Given the description of an element on the screen output the (x, y) to click on. 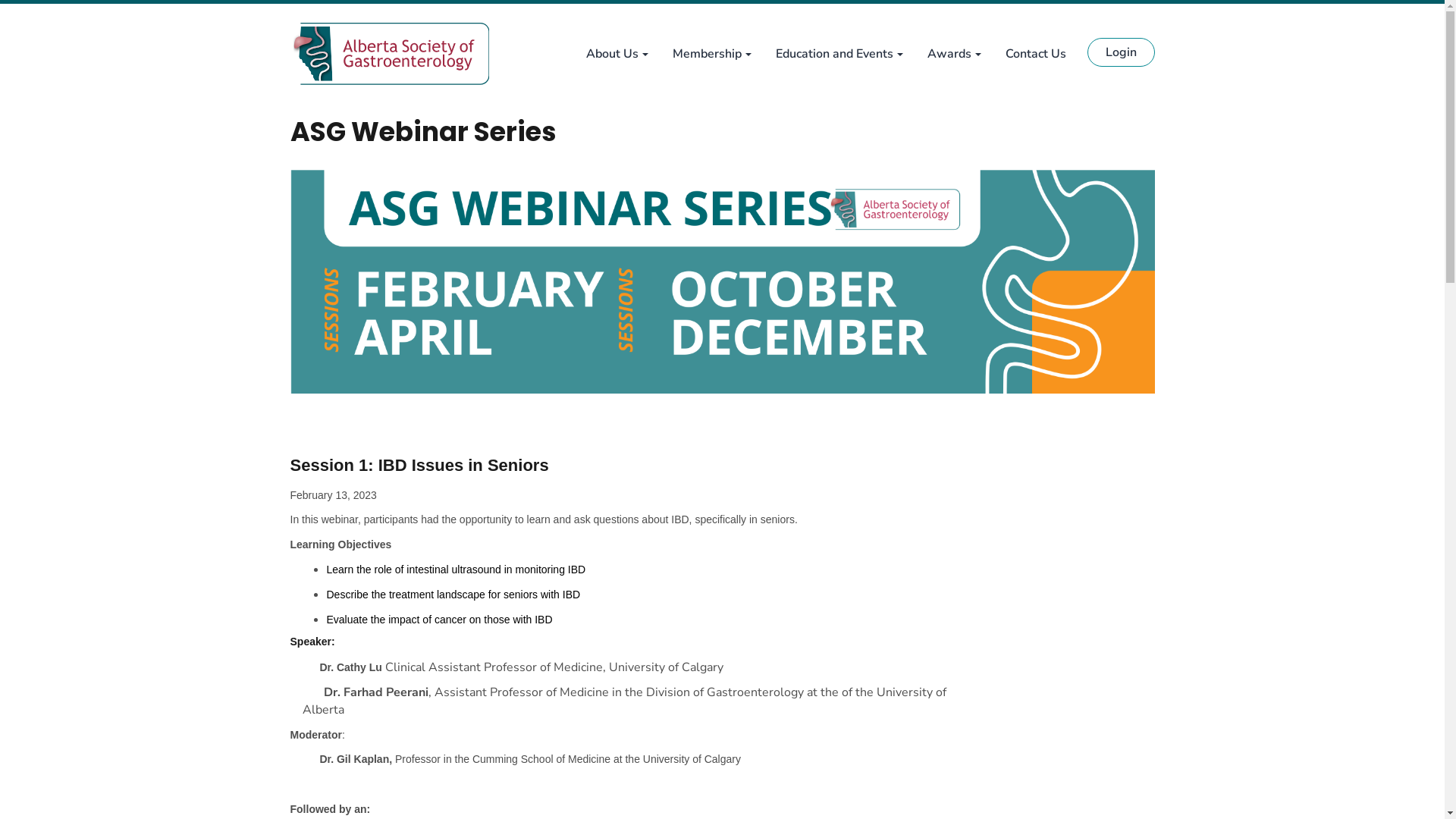
Membership Element type: text (710, 53)
Awards Element type: text (953, 53)
Education and Events Element type: text (838, 53)
Contact Us Element type: text (1035, 53)
Login Element type: text (1120, 51)
About Us Element type: text (616, 53)
